Given the description of an element on the screen output the (x, y) to click on. 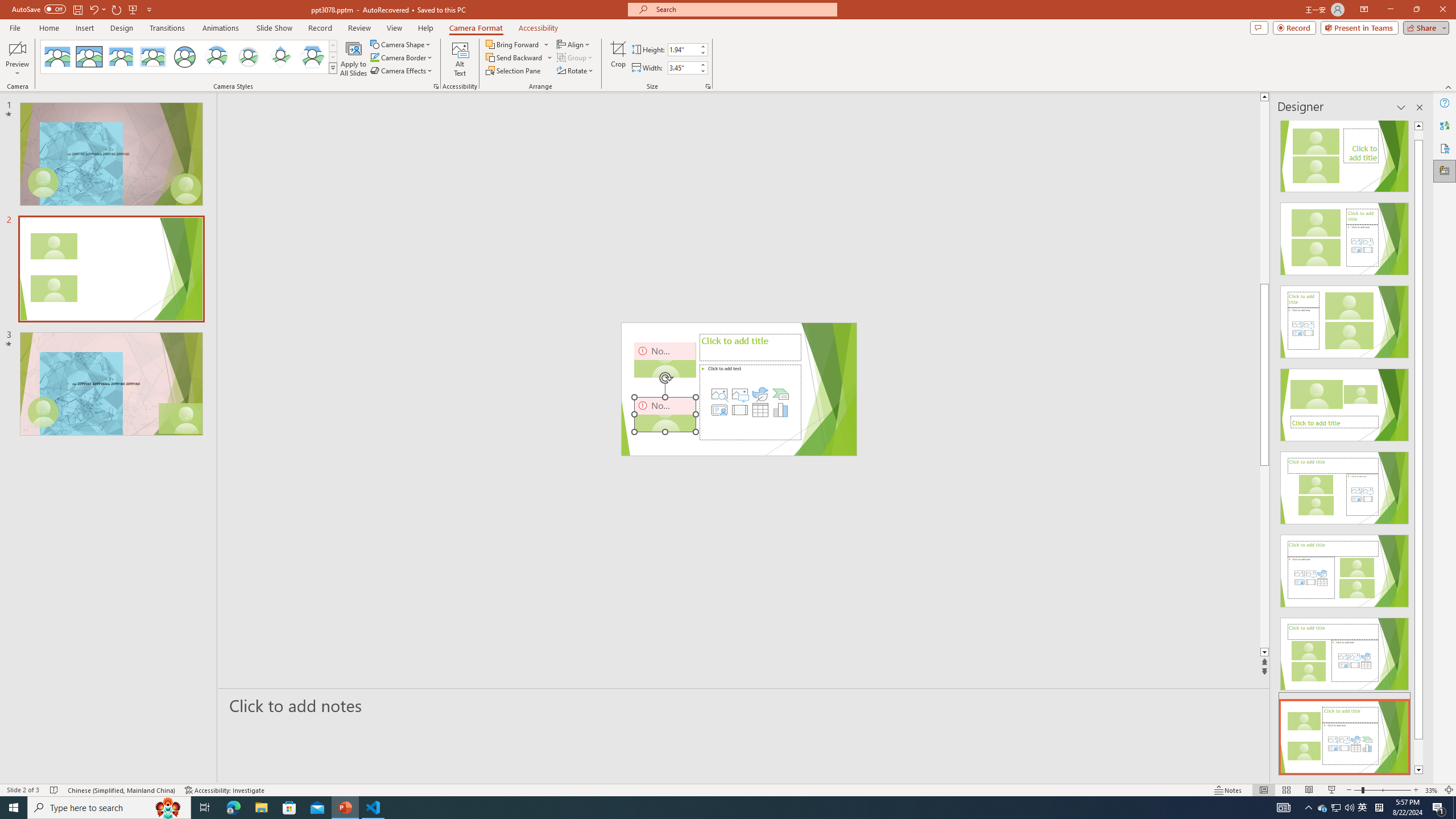
Camera Border Green, Accent 1 (374, 56)
Zoom 33% (1431, 790)
Content Placeholder (749, 402)
Camera Effects (402, 69)
